Given the description of an element on the screen output the (x, y) to click on. 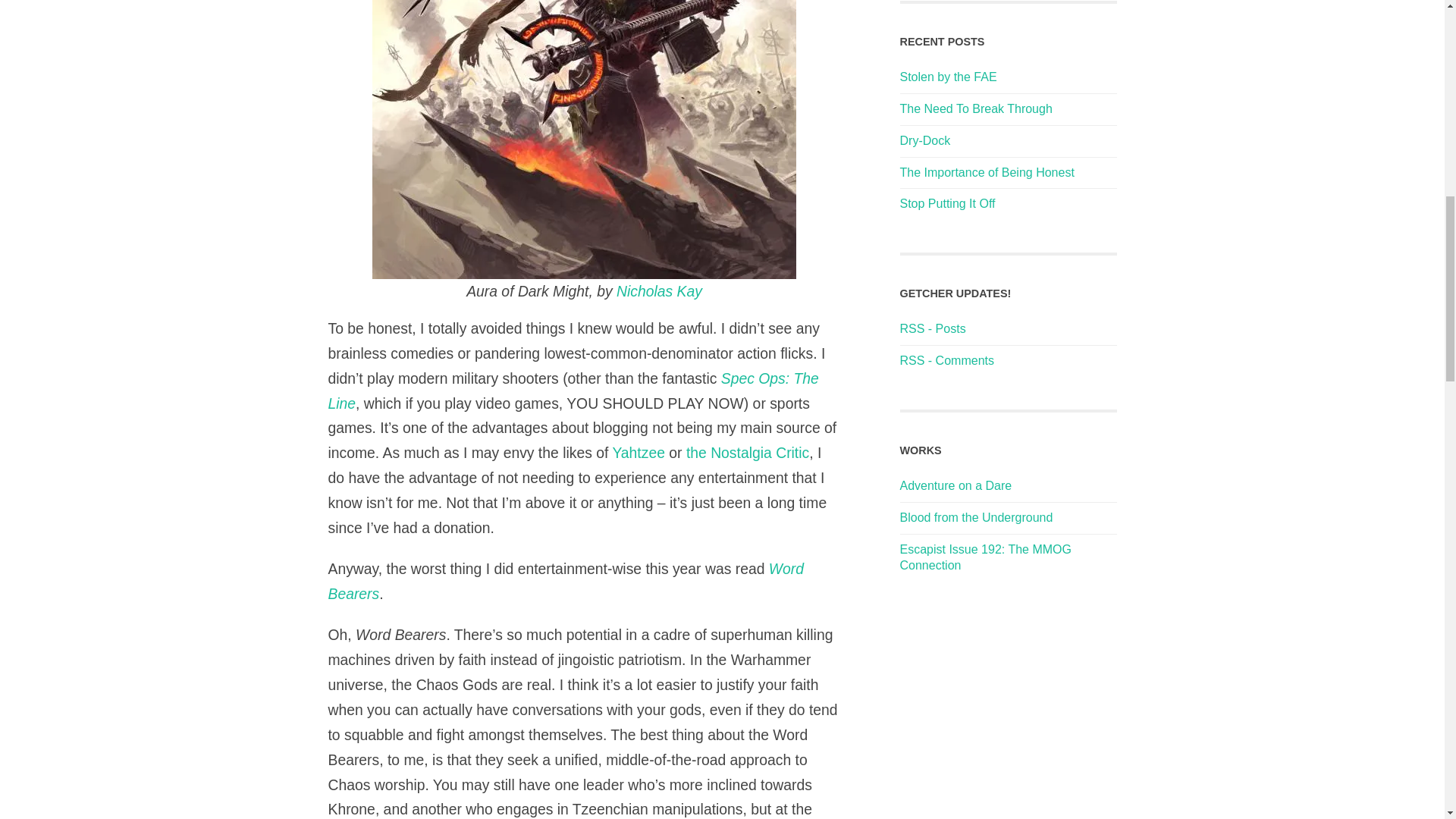
Nicholas Kay (658, 290)
Subscribe to Posts (932, 328)
the Nostalgia Critic (747, 452)
Featuring Akuma (975, 517)
Yahtzee (638, 452)
Subscribe to Comments (945, 359)
Word Bearers (565, 580)
Spec Ops: The Line (572, 390)
